Given the description of an element on the screen output the (x, y) to click on. 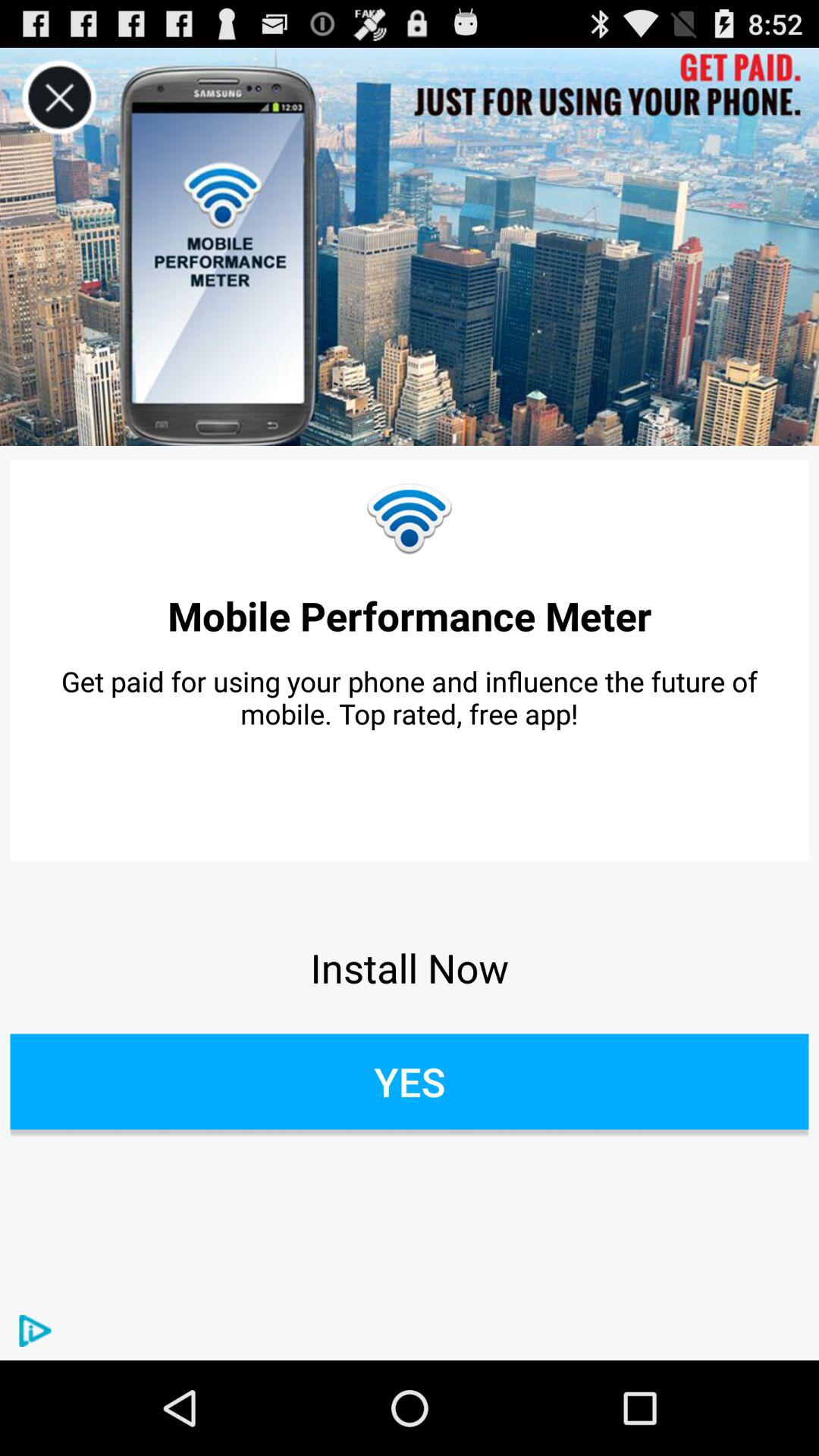
close advertisement (59, 97)
